Given the description of an element on the screen output the (x, y) to click on. 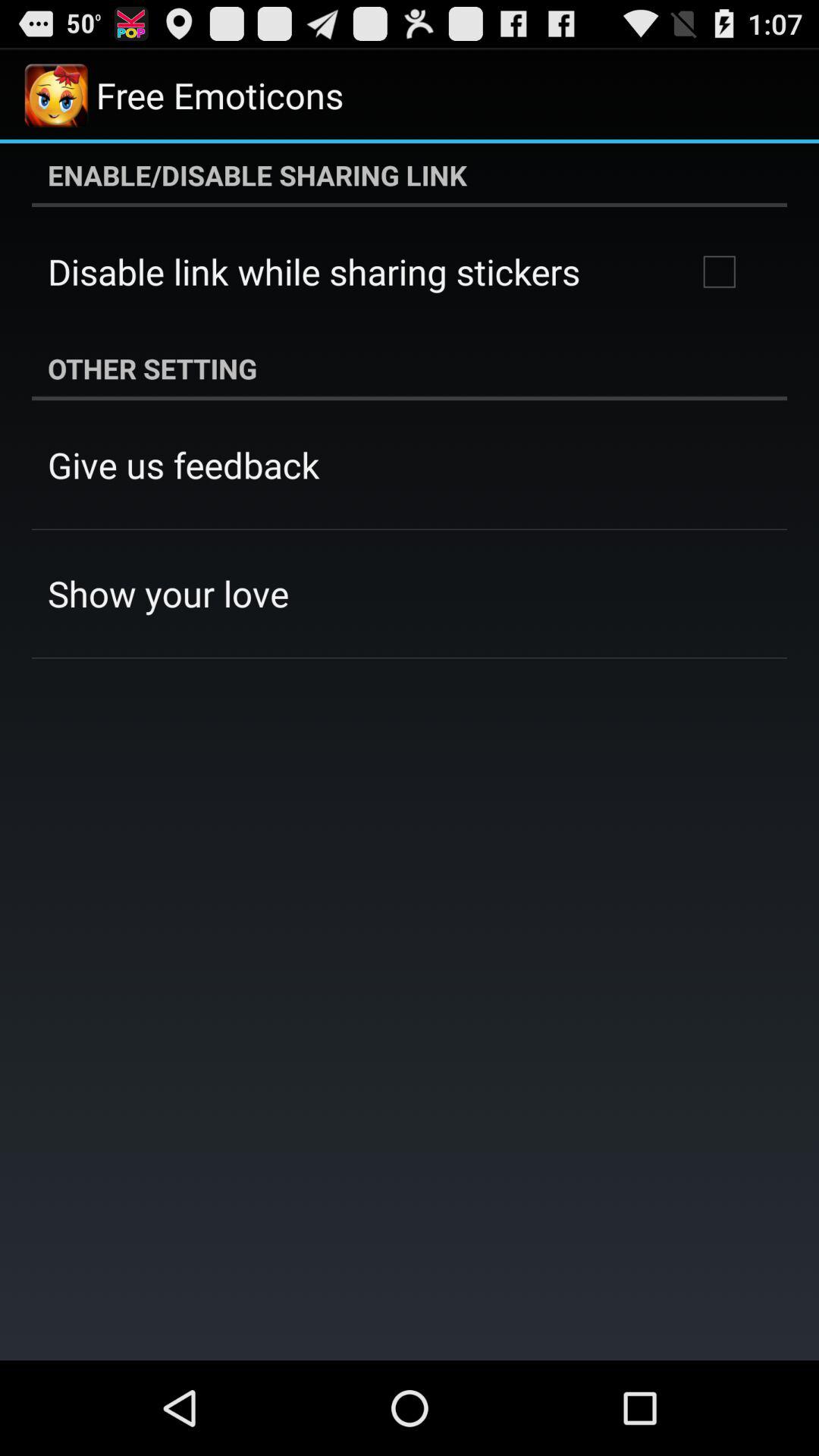
open app on the left (167, 593)
